Given the description of an element on the screen output the (x, y) to click on. 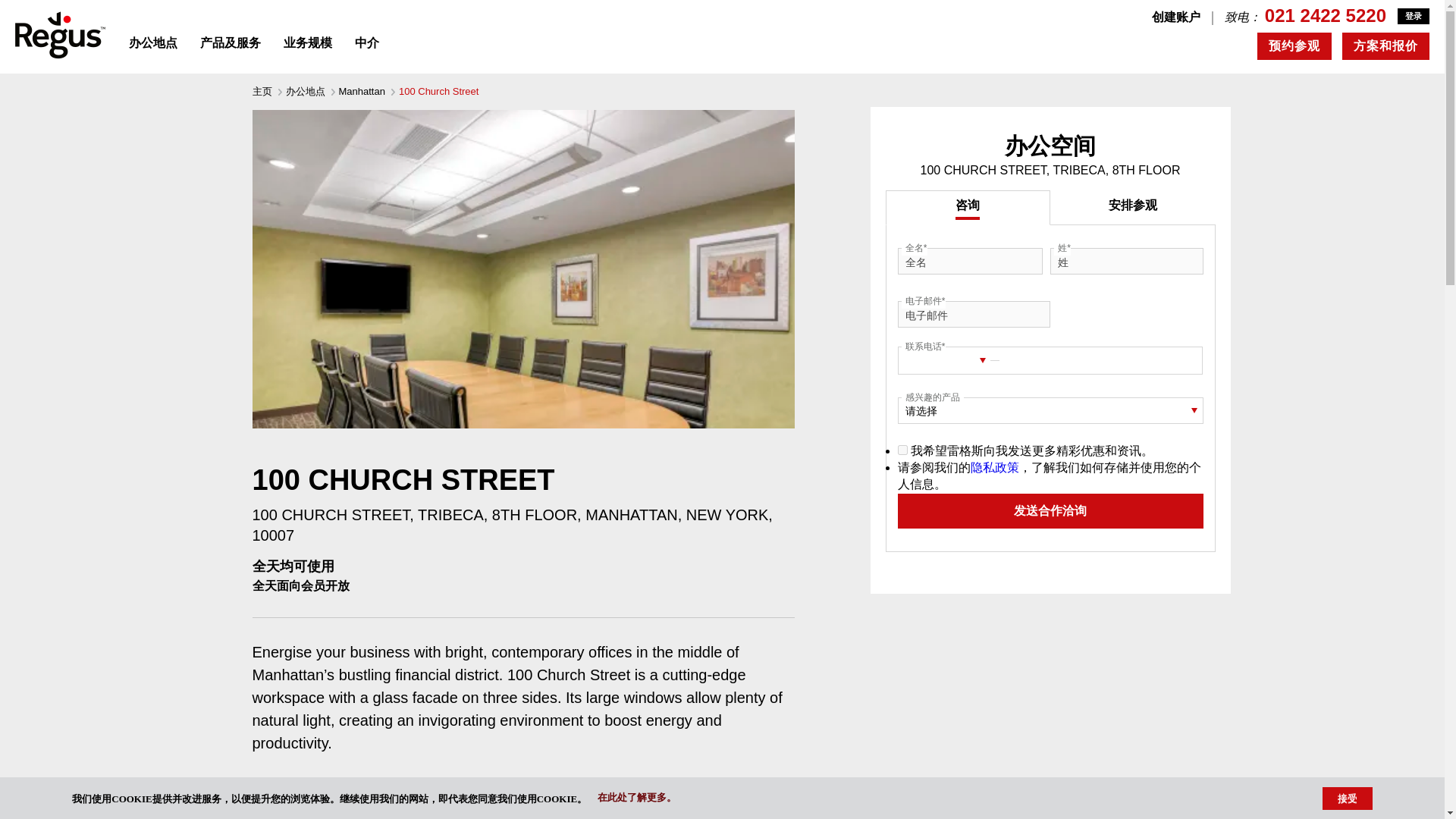
Manhattan (360, 91)
on (902, 450)
021 2422 5220 (1325, 15)
